Given the description of an element on the screen output the (x, y) to click on. 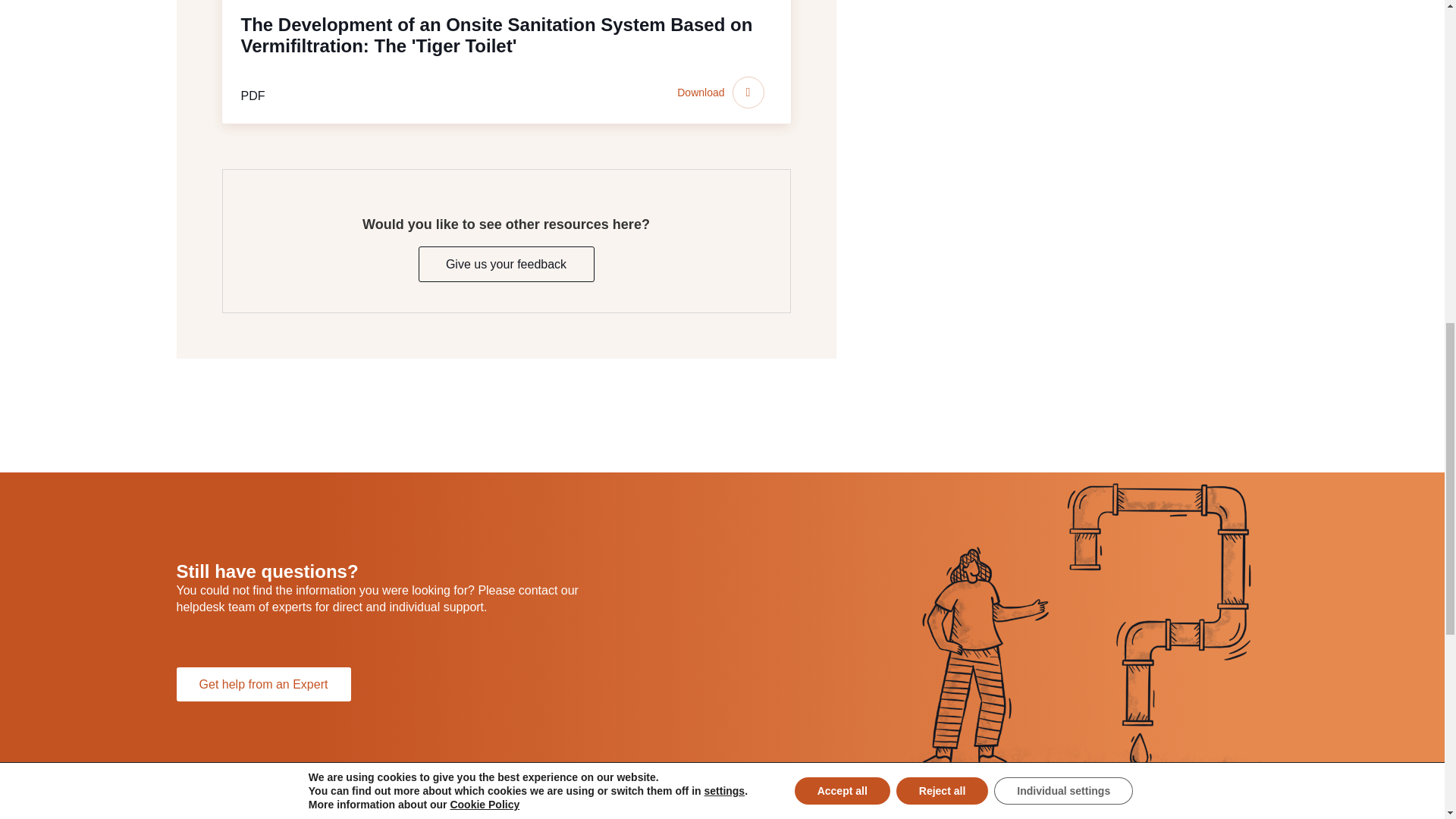
Download (724, 92)
Get help from an Expert (263, 684)
Give us your feedback (506, 263)
Get help from an Expert (263, 684)
